Given the description of an element on the screen output the (x, y) to click on. 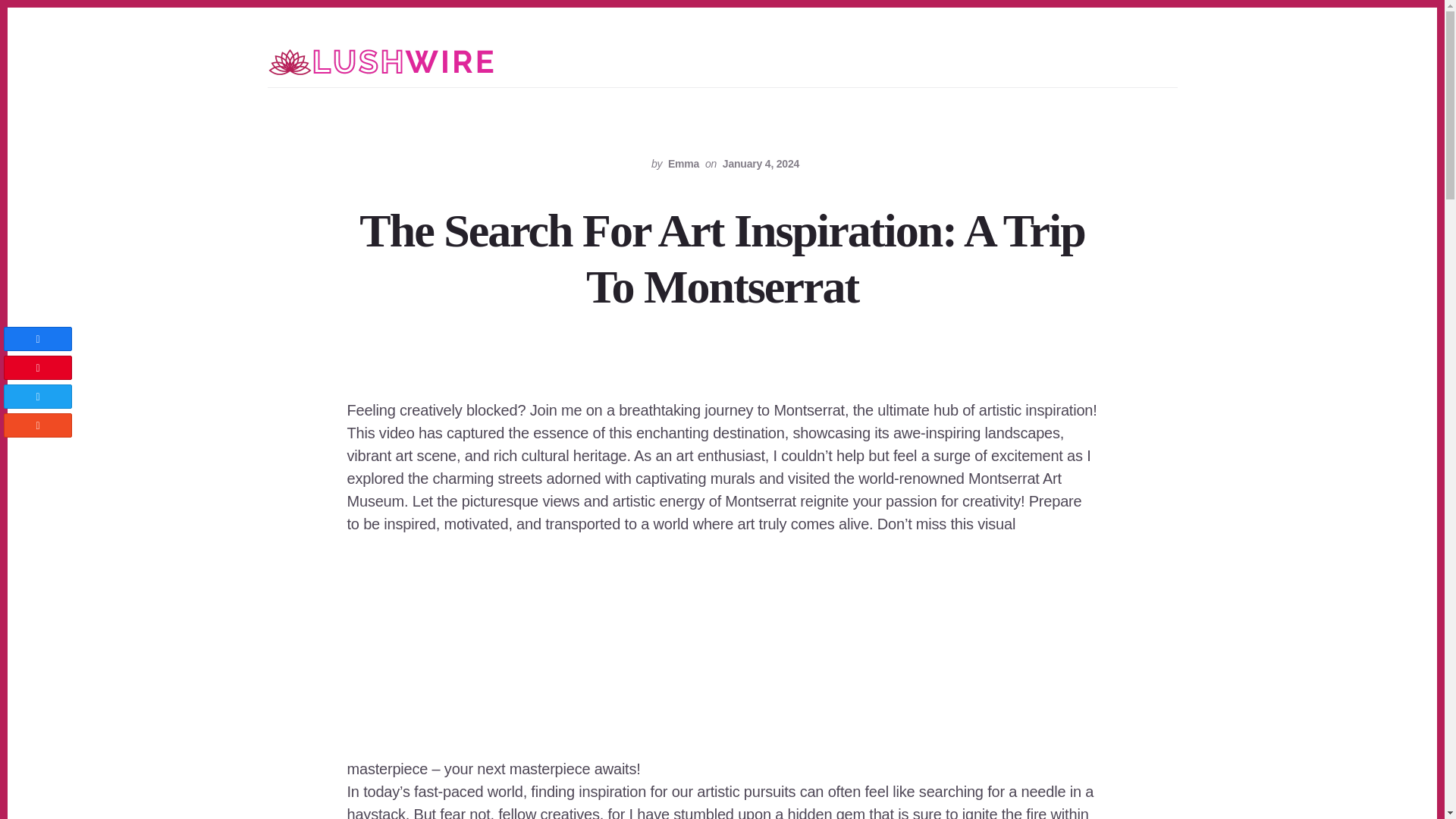
Emma (683, 163)
